Given the description of an element on the screen output the (x, y) to click on. 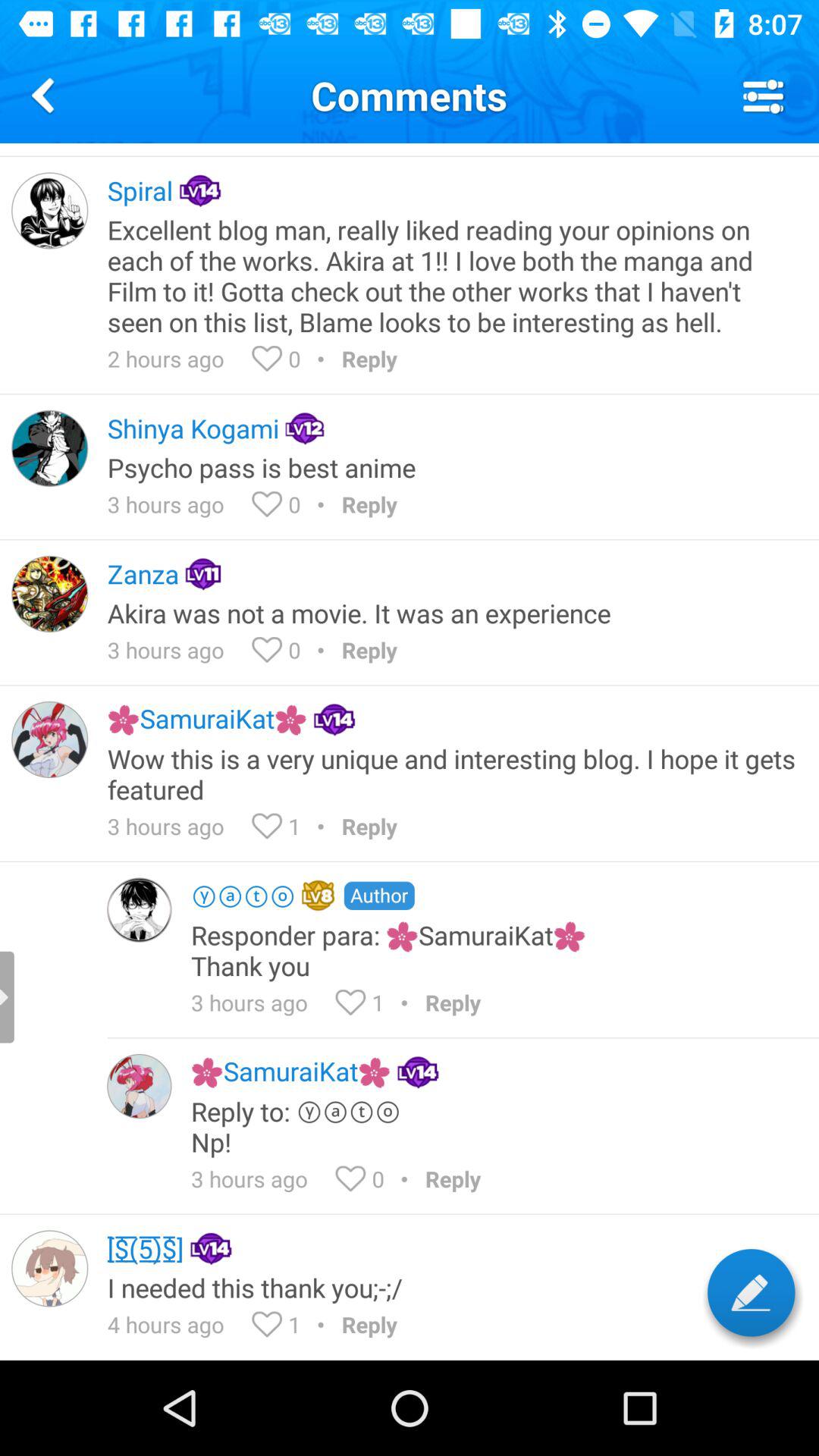
select the wow this is item (453, 774)
